Given the description of an element on the screen output the (x, y) to click on. 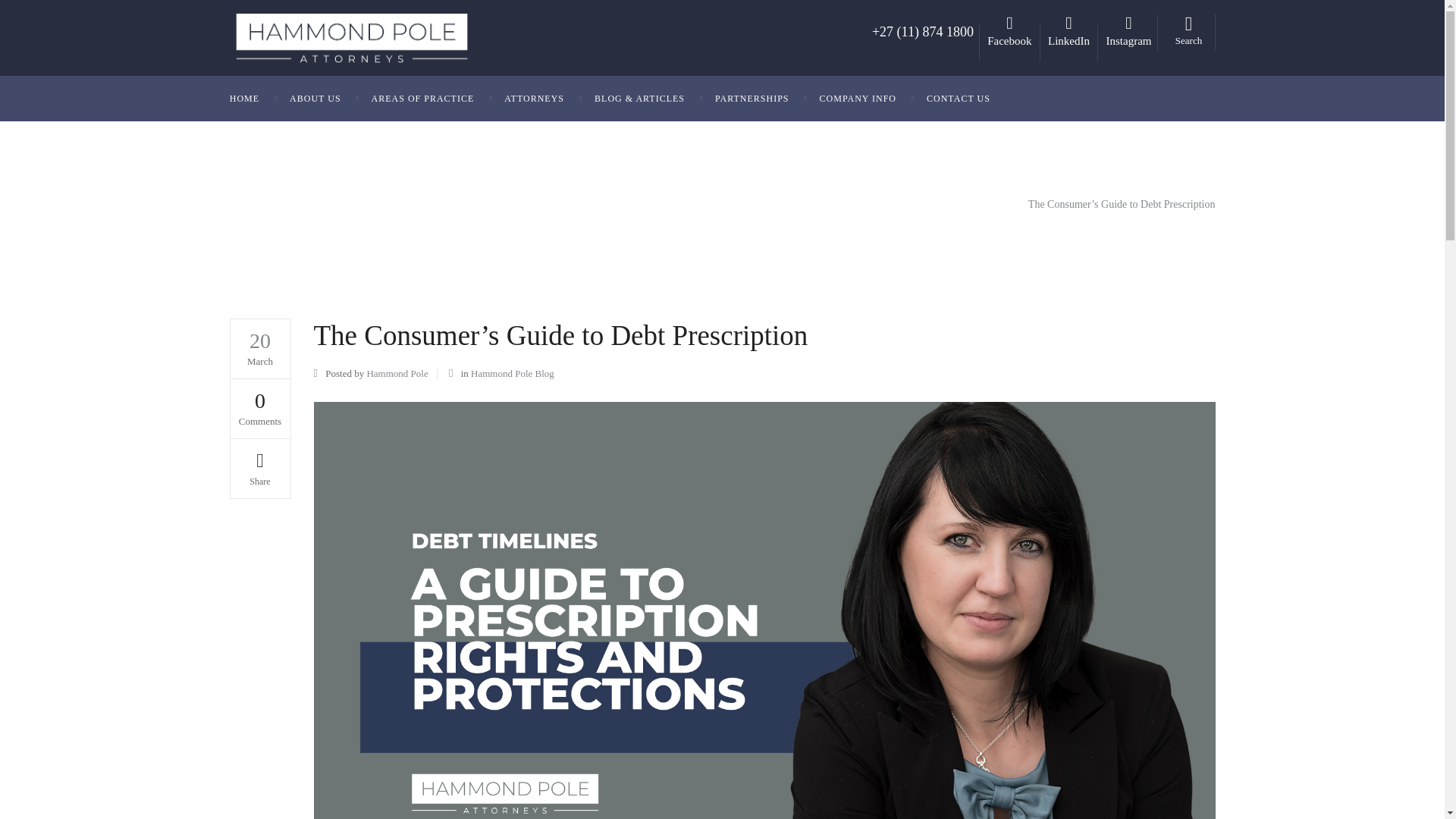
COMPANY INFO (858, 98)
Search (1188, 30)
Facebook (1008, 41)
HOME (252, 98)
ABOUT US (315, 98)
PARTNERSHIPS (752, 98)
ATTORNEYS (534, 98)
CONTACT US (958, 98)
Instagram (1128, 41)
LinkedIn (1068, 41)
AREAS OF PRACTICE (422, 98)
